Given the description of an element on the screen output the (x, y) to click on. 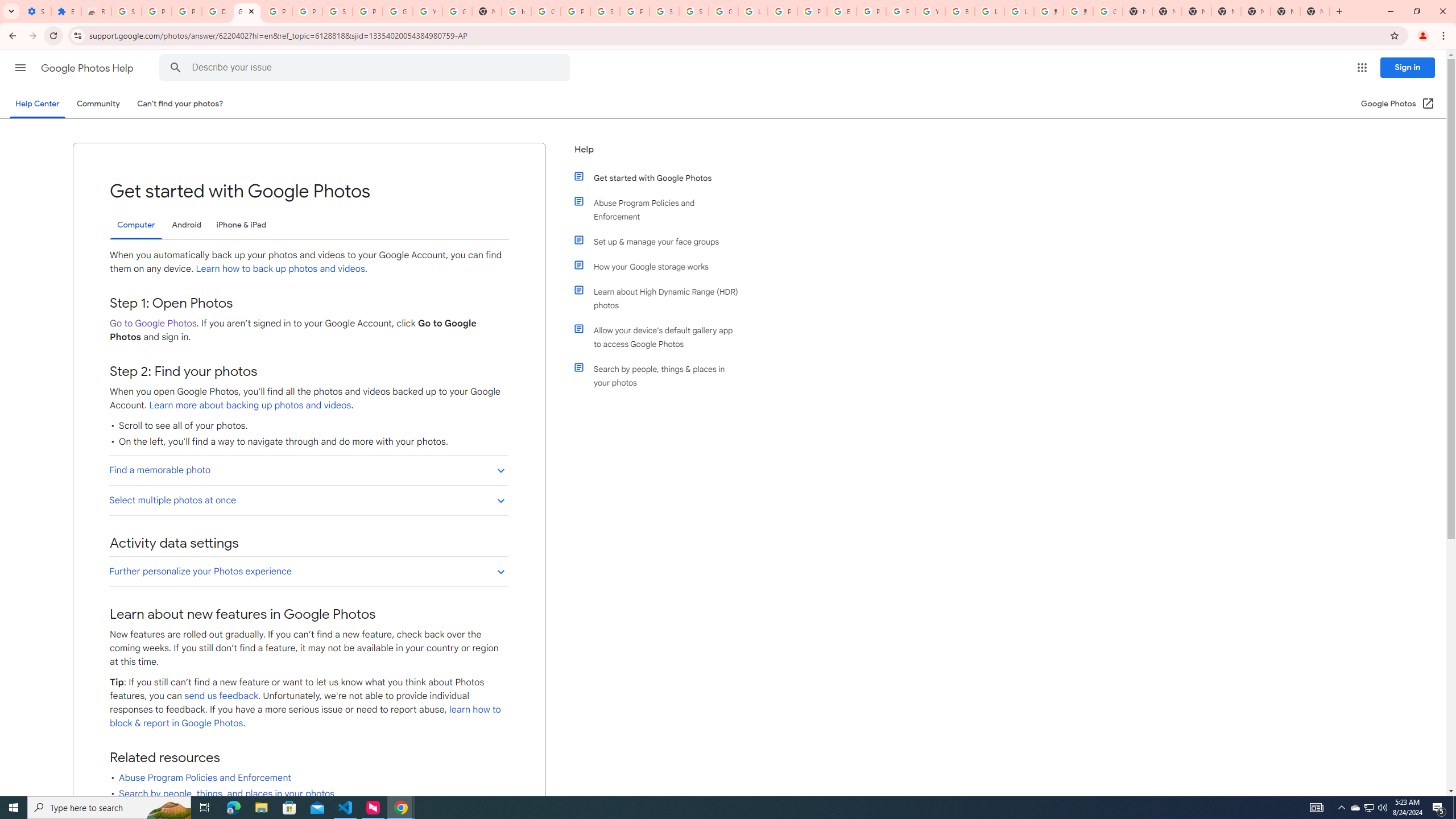
Go to Google Photos (152, 323)
Settings - On startup (36, 11)
Learn about High Dynamic Range (HDR) photos (661, 298)
